Given the description of an element on the screen output the (x, y) to click on. 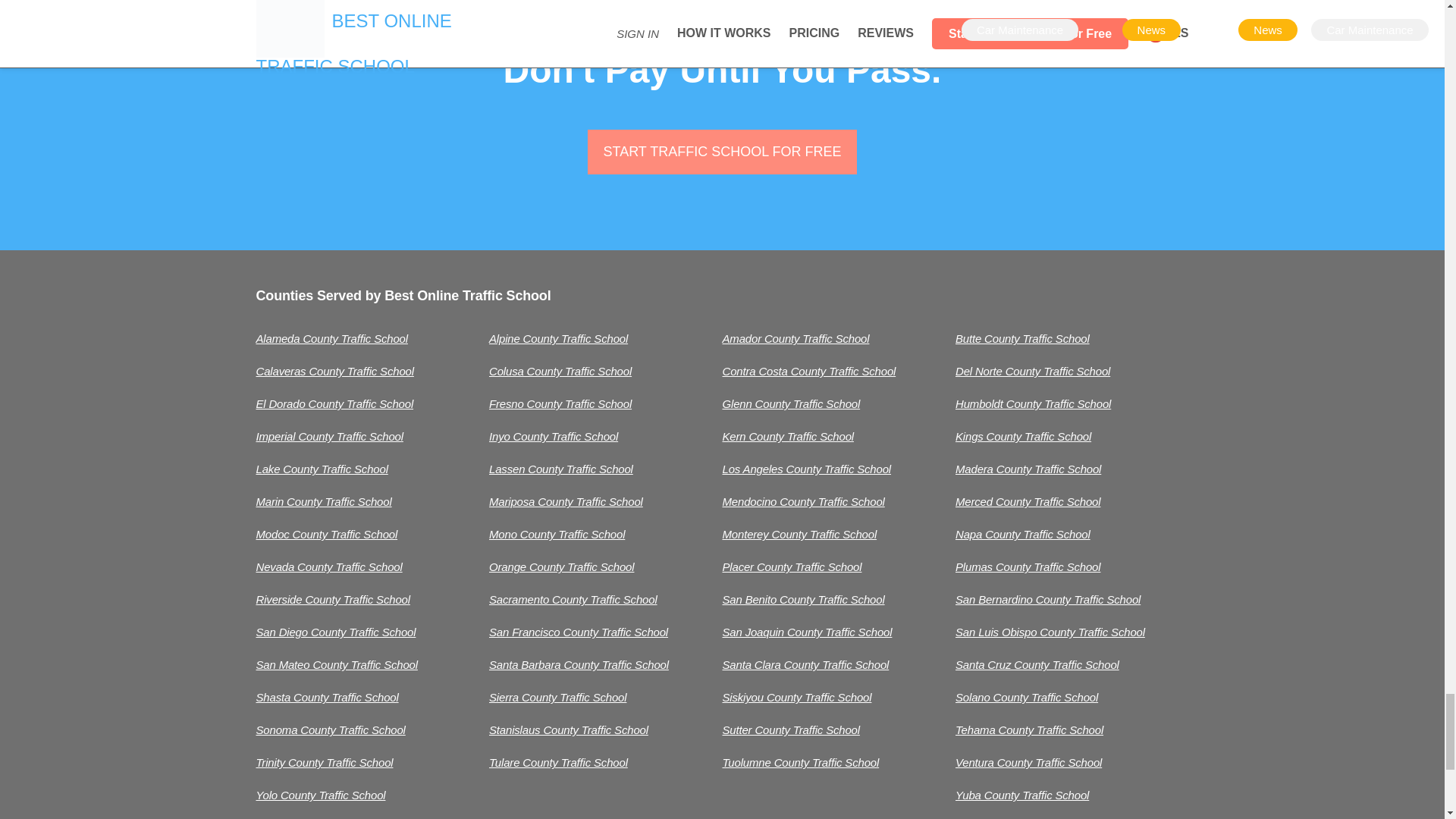
News (1268, 29)
News (1151, 29)
Car Maintenance (1019, 29)
